Given the description of an element on the screen output the (x, y) to click on. 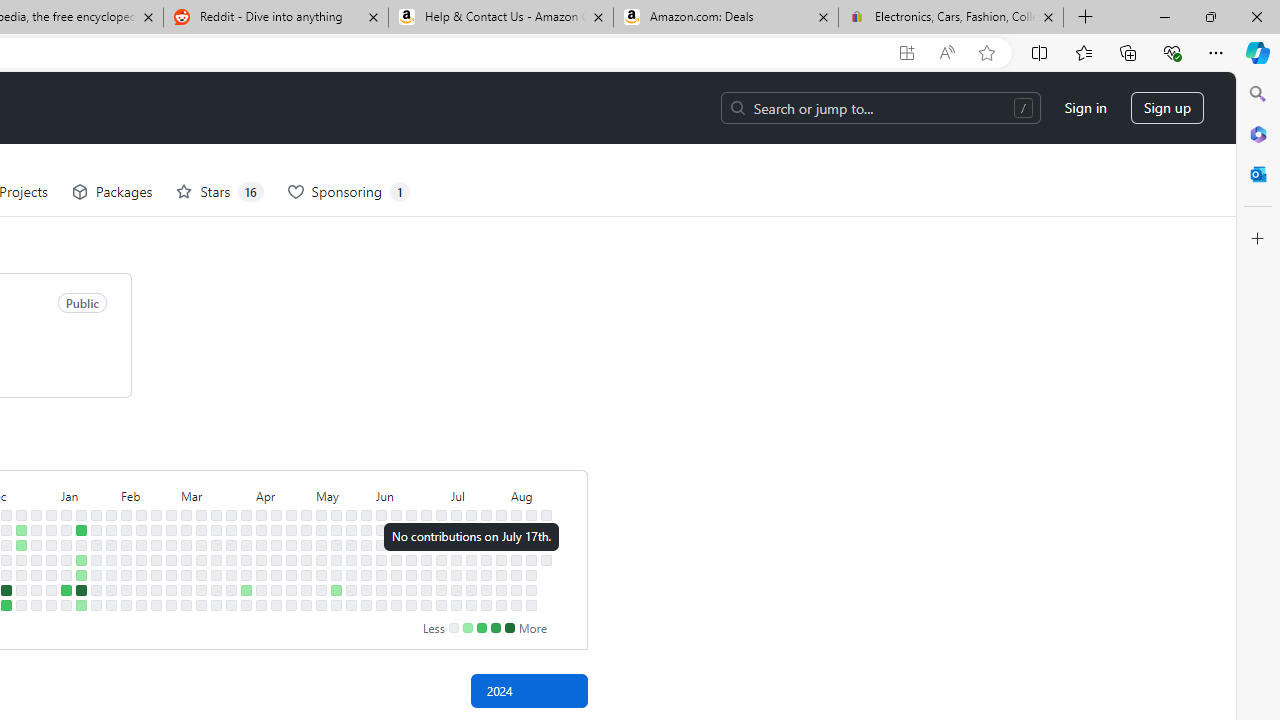
No contributions on April 13th. (261, 605)
No contributions on April 1st. (246, 529)
No contributions on August 10th. (516, 605)
No contributions on March 9th. (186, 605)
No contributions on June 26th. (426, 559)
1 contribution on April 5th. (246, 589)
No contributions on June 16th. (411, 515)
No contributions on June 19th. (411, 559)
No contributions on July 1st. (441, 529)
No contributions on August 5th. (516, 529)
No contributions on April 16th. (276, 544)
No contributions on February 20th. (156, 544)
No contributions on March 20th. (216, 559)
No contributions on May 7th. (321, 544)
No contributions on July 13th. (456, 605)
